Given the description of an element on the screen output the (x, y) to click on. 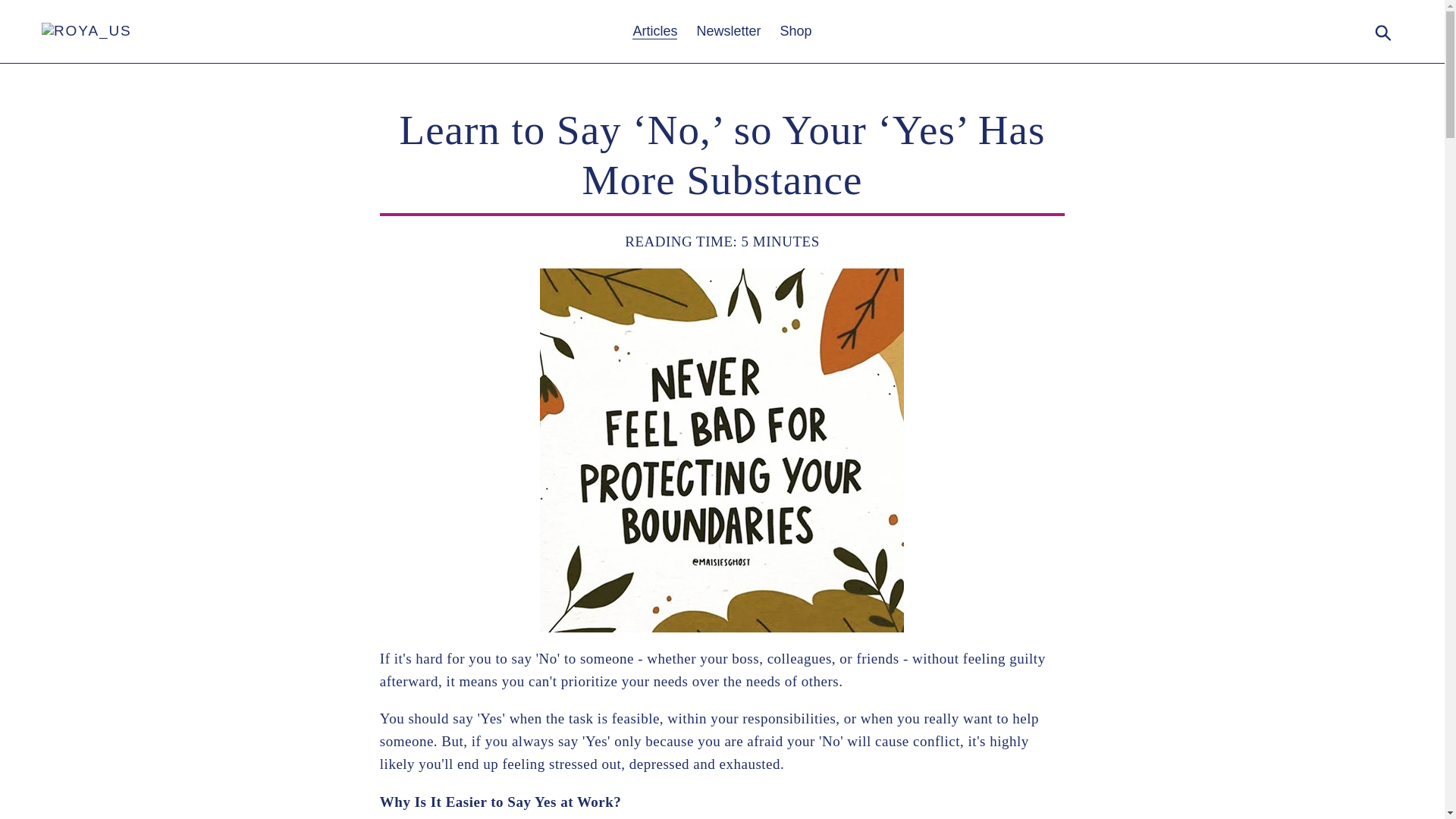
Newsletter (728, 31)
Articles (654, 31)
Submit (1384, 31)
Shop (796, 31)
